Given the description of an element on the screen output the (x, y) to click on. 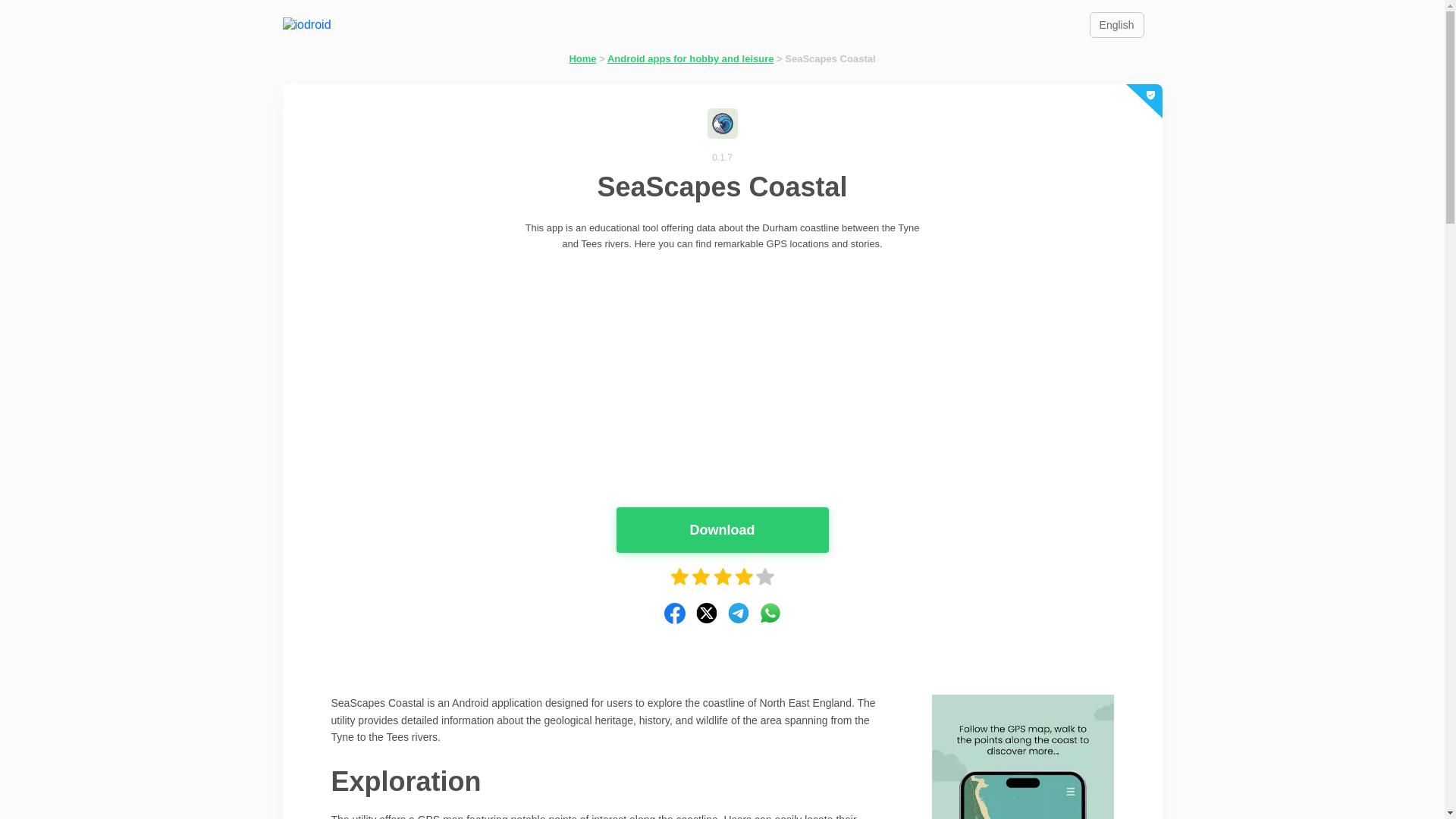
5 (764, 577)
Android apps for hobby and leisure (690, 58)
Download (721, 529)
Home (582, 58)
2 (700, 577)
3 (721, 577)
4 (743, 577)
1 (678, 577)
